Given the description of an element on the screen output the (x, y) to click on. 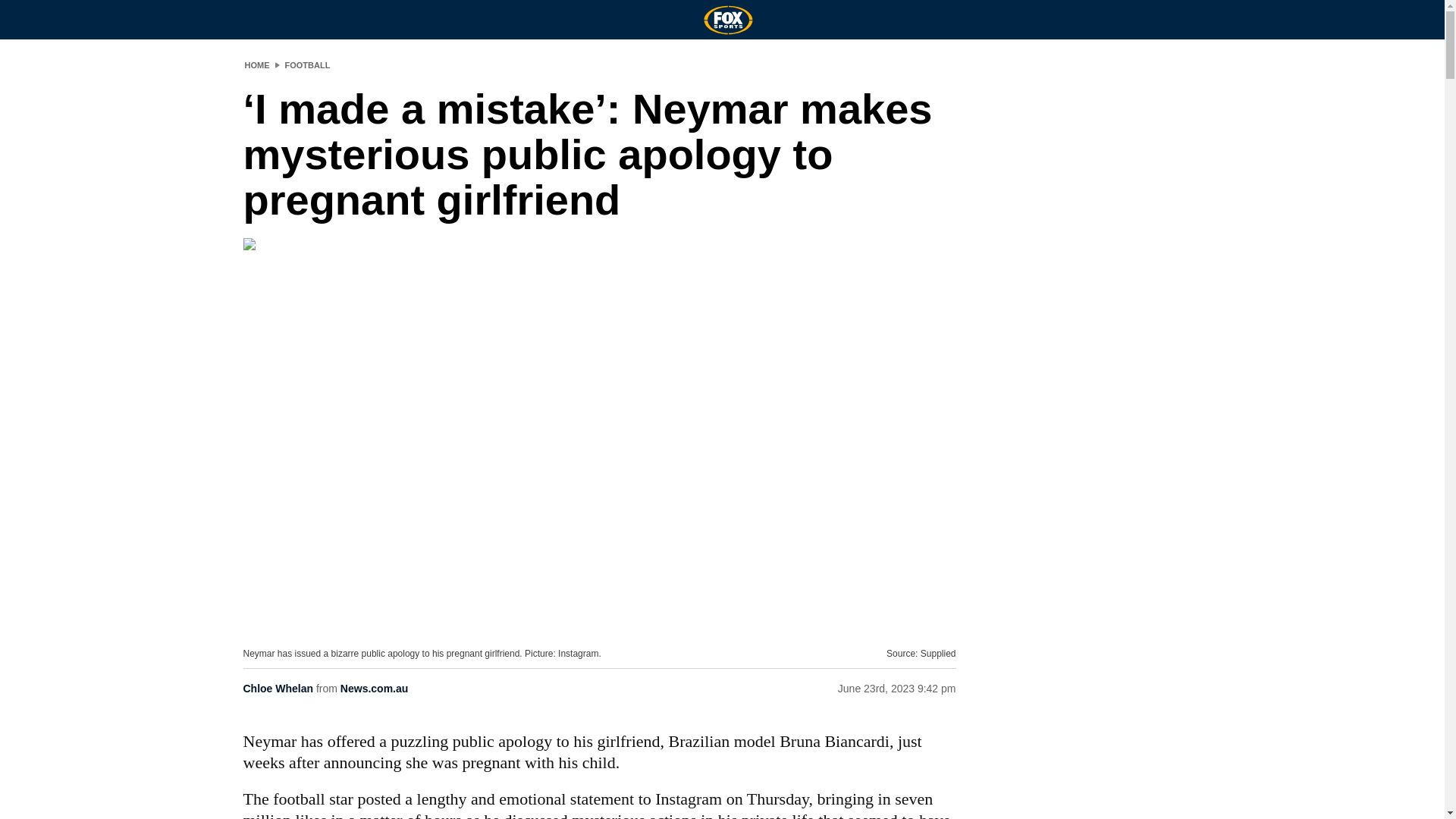
FOOTBALL (307, 64)
HOME (256, 64)
